Given the description of an element on the screen output the (x, y) to click on. 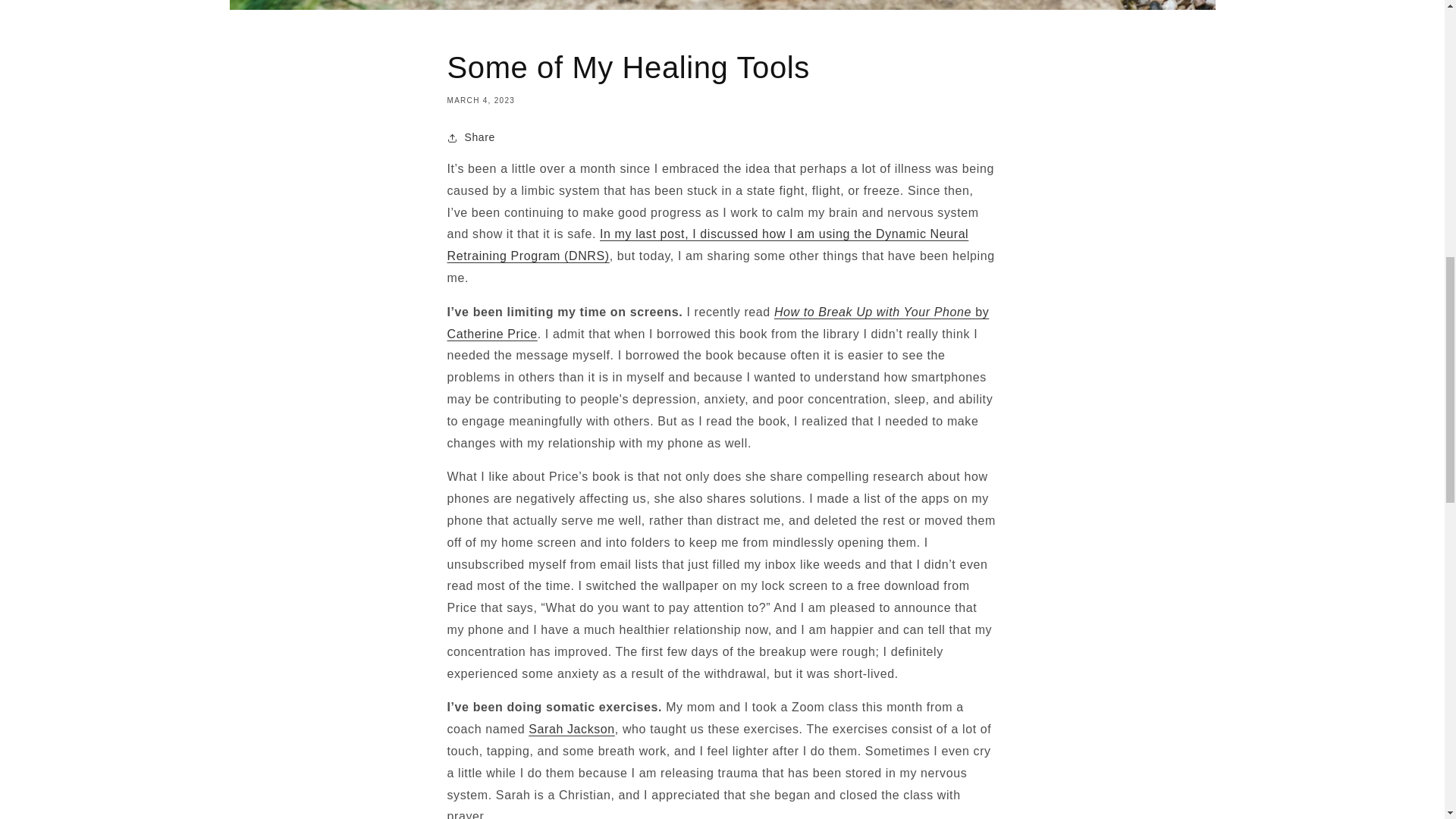
How to Break Up with Your Phone (872, 311)
by Catherine Price (718, 322)
Sarah Jackson (571, 728)
